Given the description of an element on the screen output the (x, y) to click on. 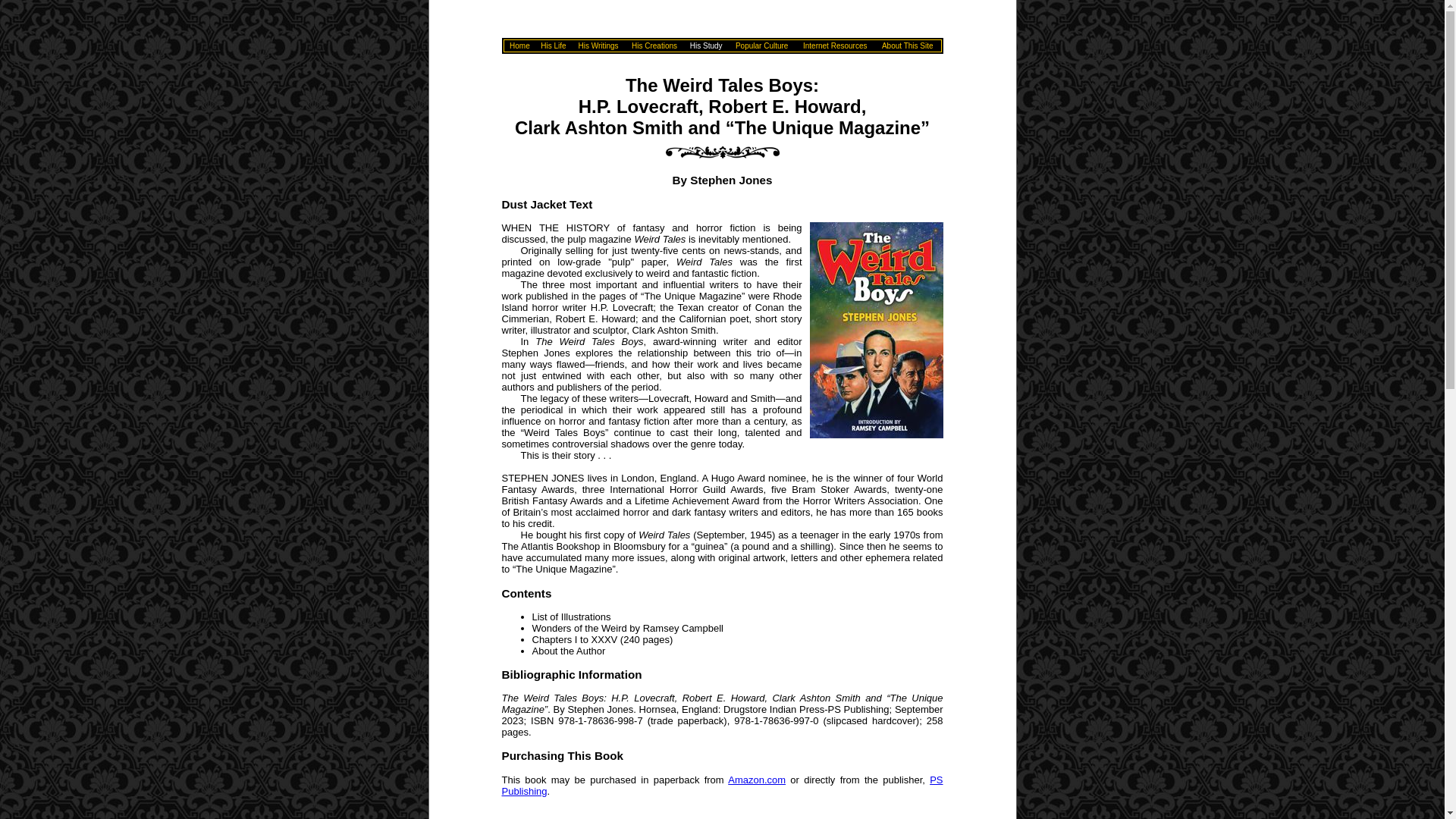
Amazon.com (757, 779)
His Writings (597, 43)
PS Publishing (722, 784)
His Creations (654, 43)
About This Site (907, 43)
His Life (553, 43)
His Study (706, 43)
Popular Culture (761, 43)
Internet Resources (835, 43)
Home (519, 43)
